Given the description of an element on the screen output the (x, y) to click on. 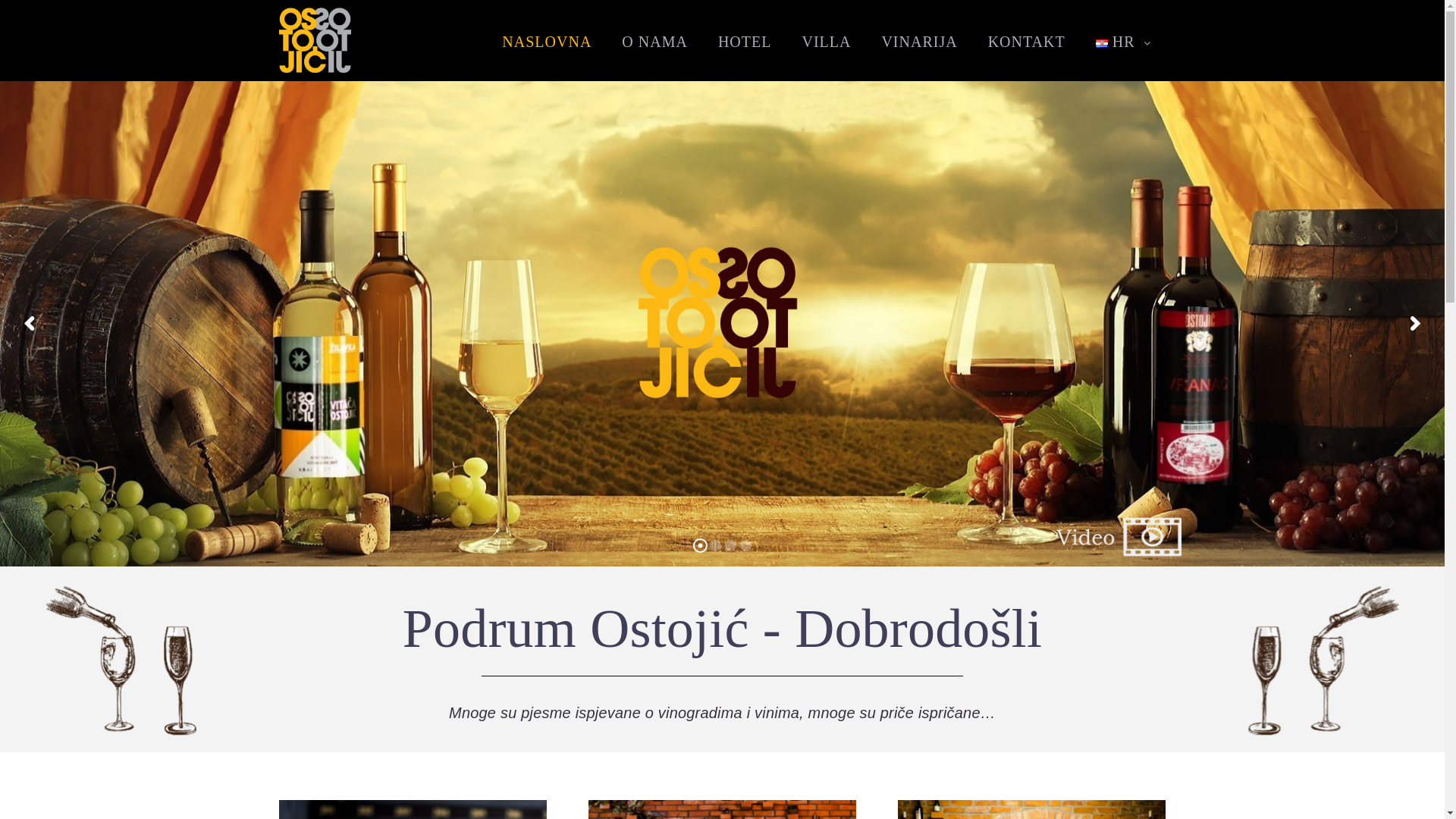
NASLOVNA Element type: text (546, 41)
VINARIJA Element type: text (919, 41)
O NAMA Element type: text (654, 41)
HOTEL Element type: text (744, 41)
wine-pouring Element type: hover (1323, 660)
HR Element type: hover (1101, 43)
HR Element type: text (1123, 42)
KONTAKT Element type: text (1026, 41)
VILLA Element type: text (826, 41)
wine-pouring Element type: hover (120, 660)
